Given the description of an element on the screen output the (x, y) to click on. 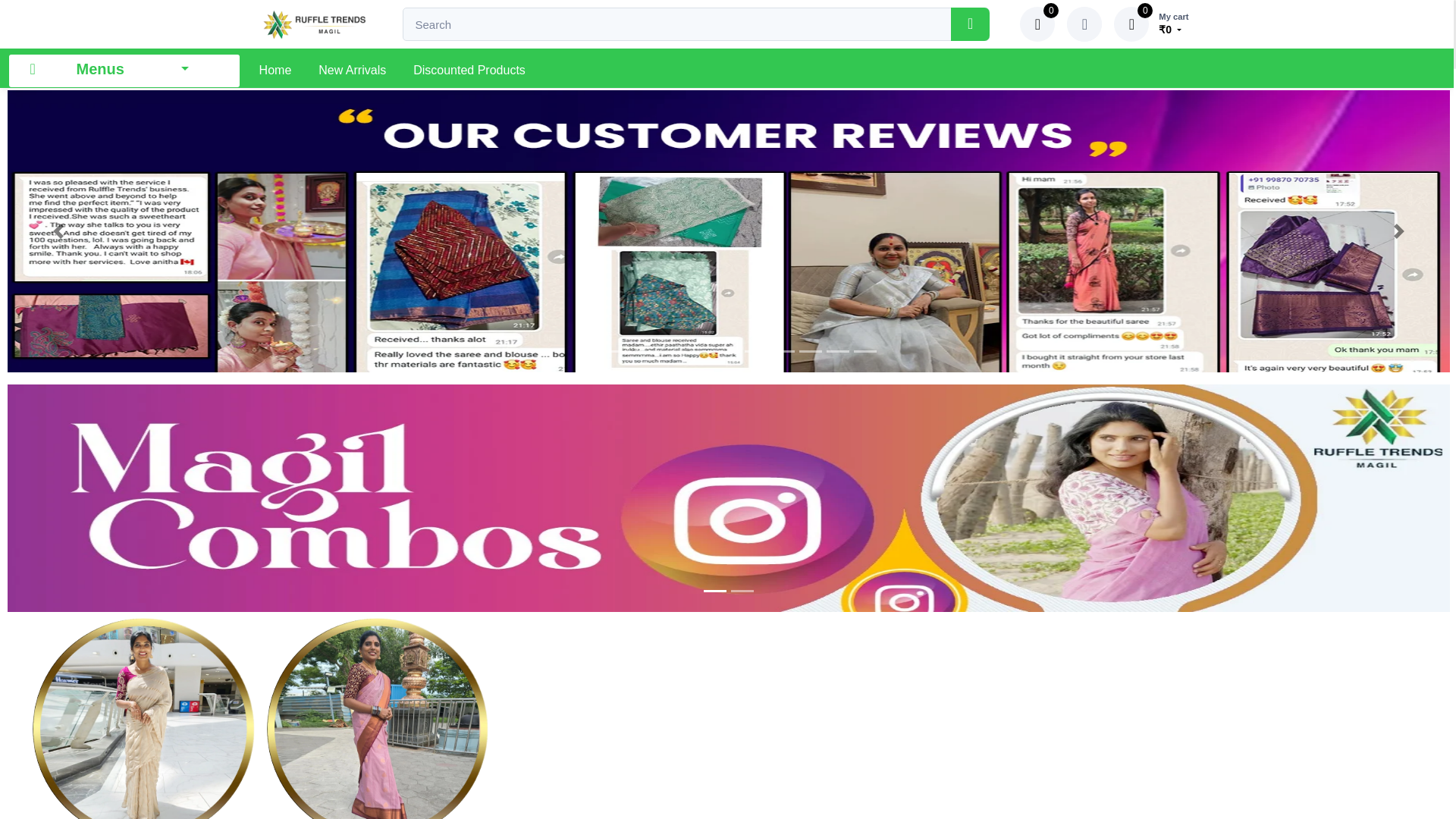
Home (275, 68)
0 (1130, 23)
Discounted Products (468, 68)
New Arrivals (351, 68)
Menus (123, 70)
0 (1037, 23)
